Given the description of an element on the screen output the (x, y) to click on. 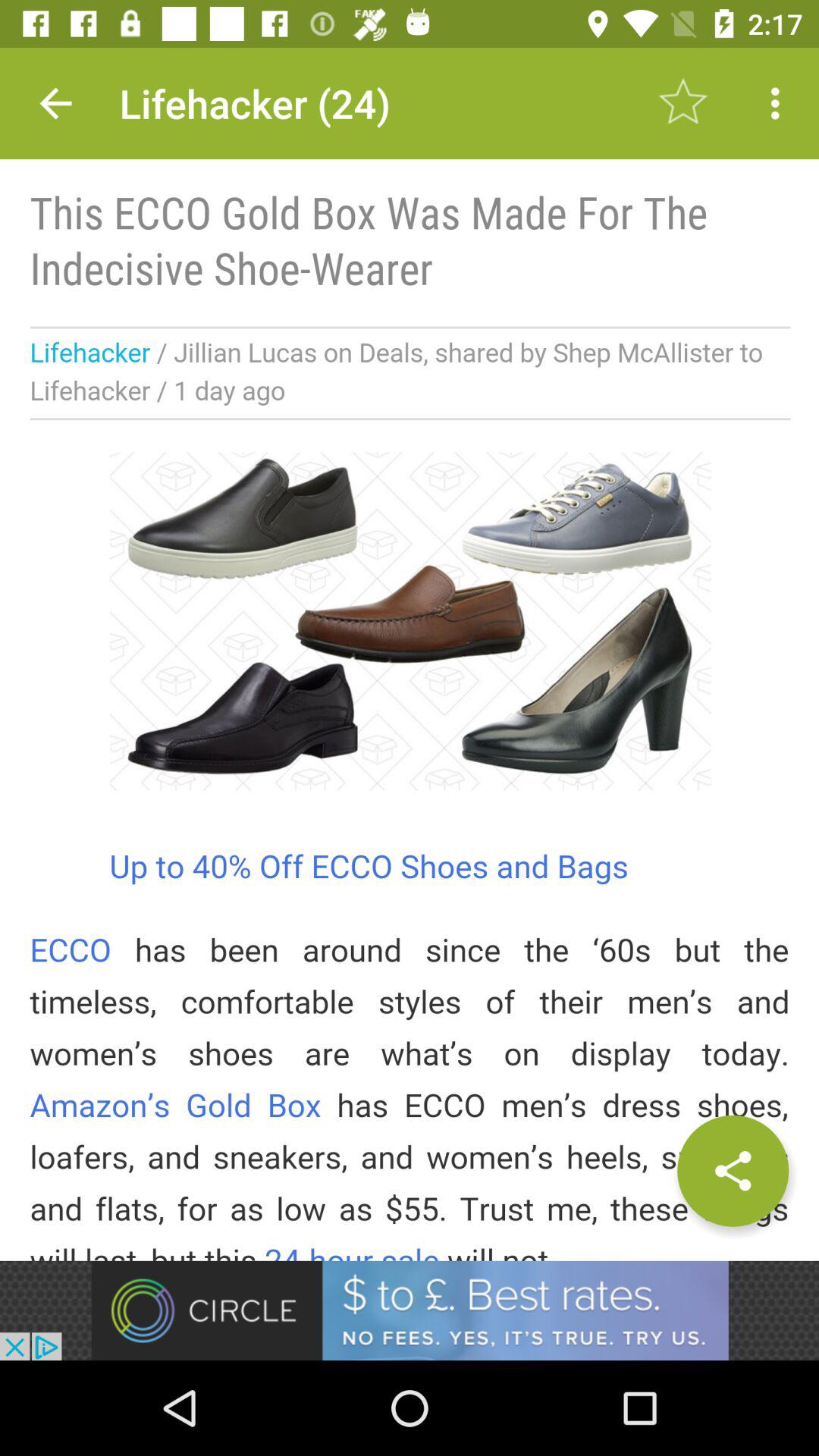
advertisement (409, 1310)
